Given the description of an element on the screen output the (x, y) to click on. 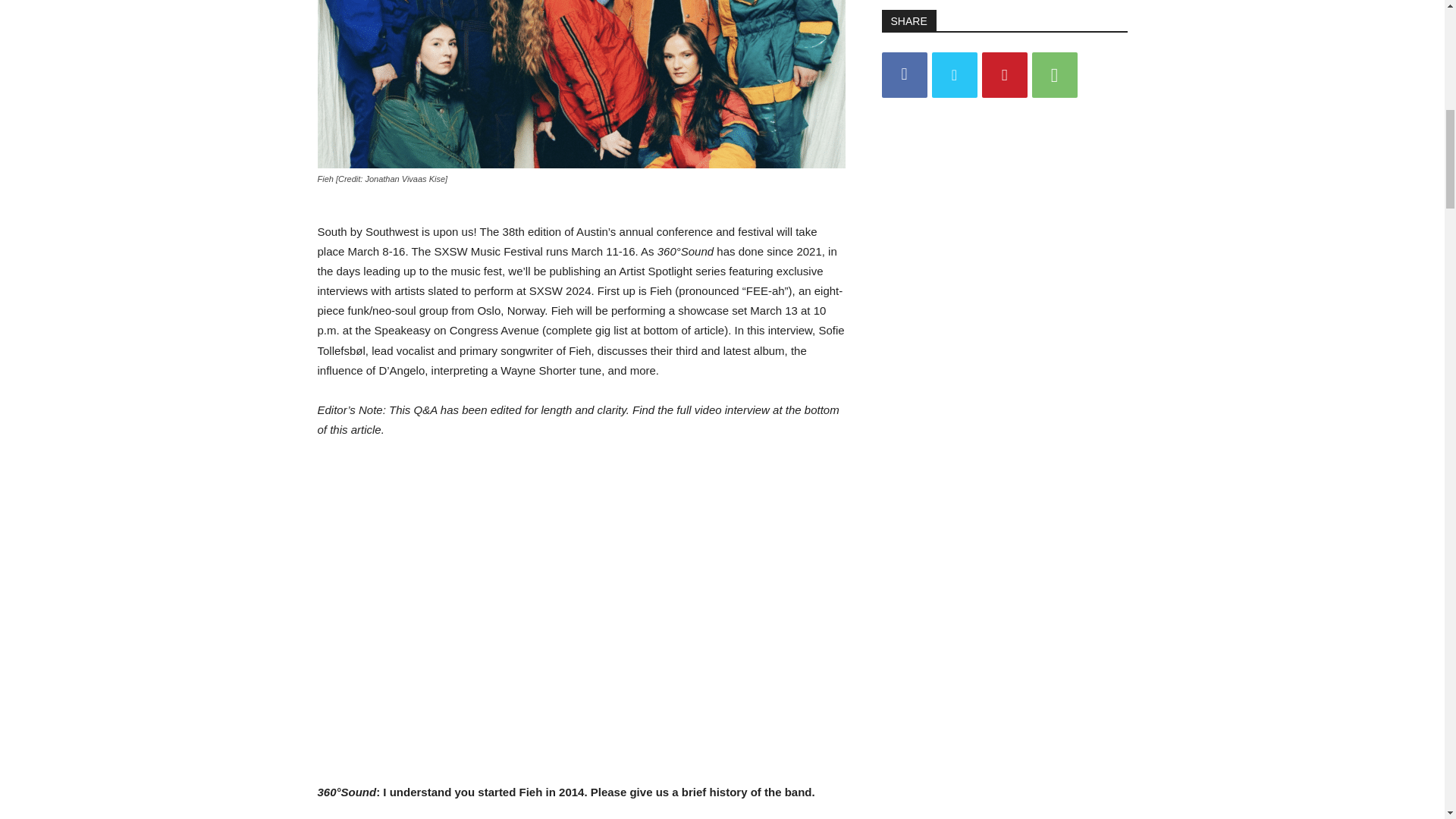
Fieh (580, 84)
